Given the description of an element on the screen output the (x, y) to click on. 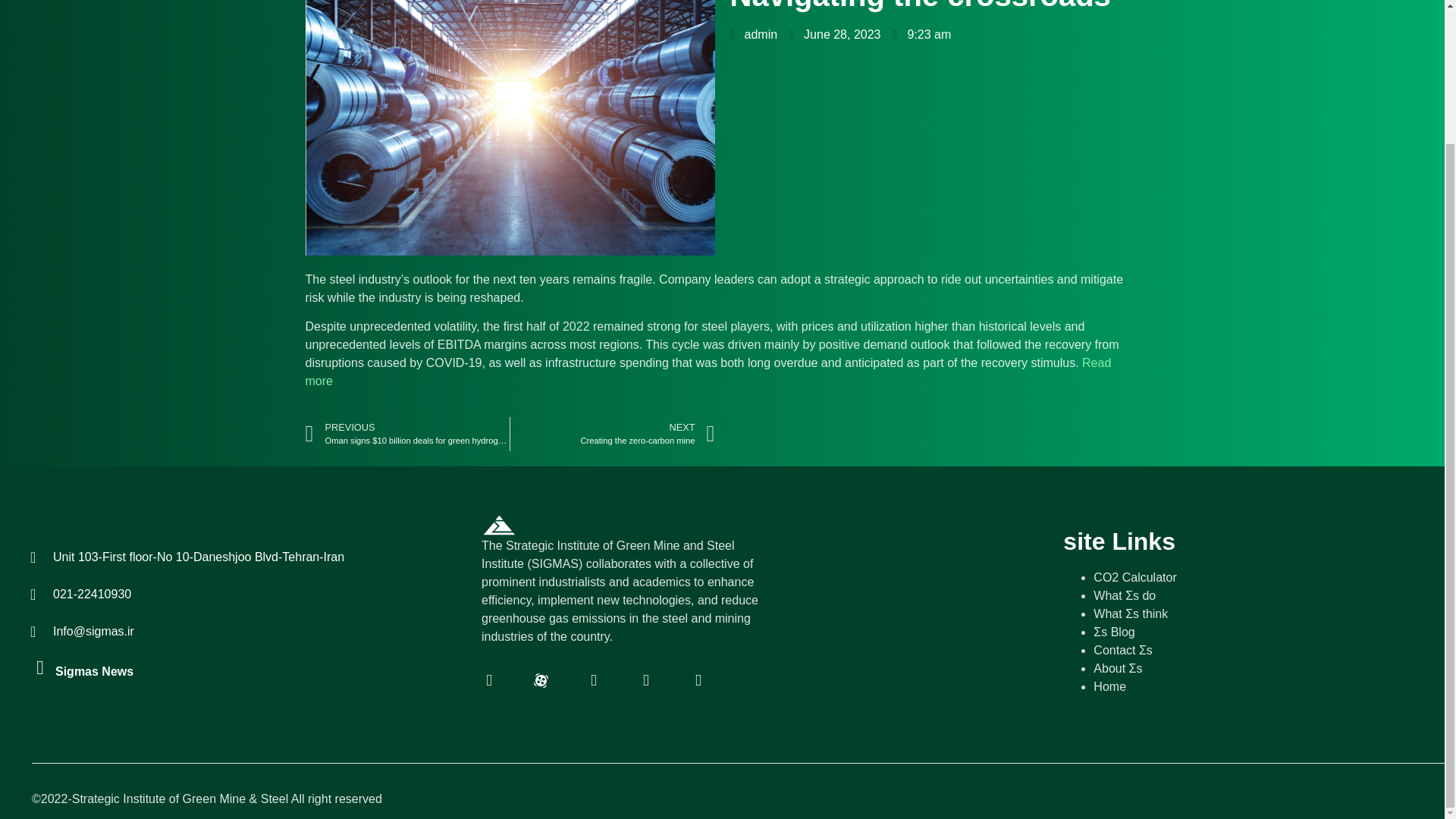
June 28, 2023 (834, 34)
admin (753, 34)
Read more (707, 371)
Home (612, 433)
CO2 Calculator (1109, 686)
Sigmas News (1134, 576)
